Given the description of an element on the screen output the (x, y) to click on. 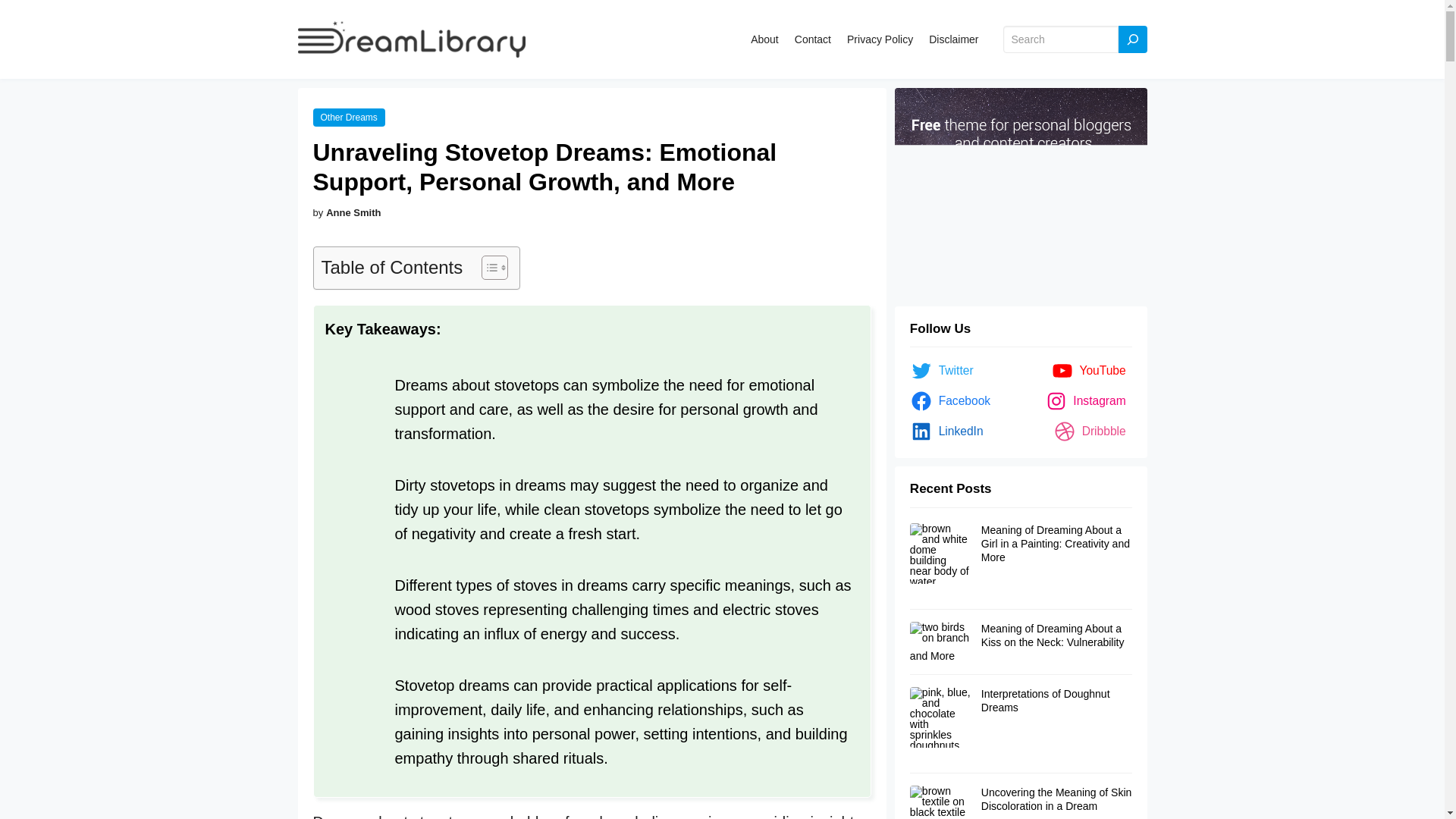
Disclaimer (953, 39)
Other Dreams (348, 117)
Privacy Policy (879, 39)
Contact (812, 39)
